Given the description of an element on the screen output the (x, y) to click on. 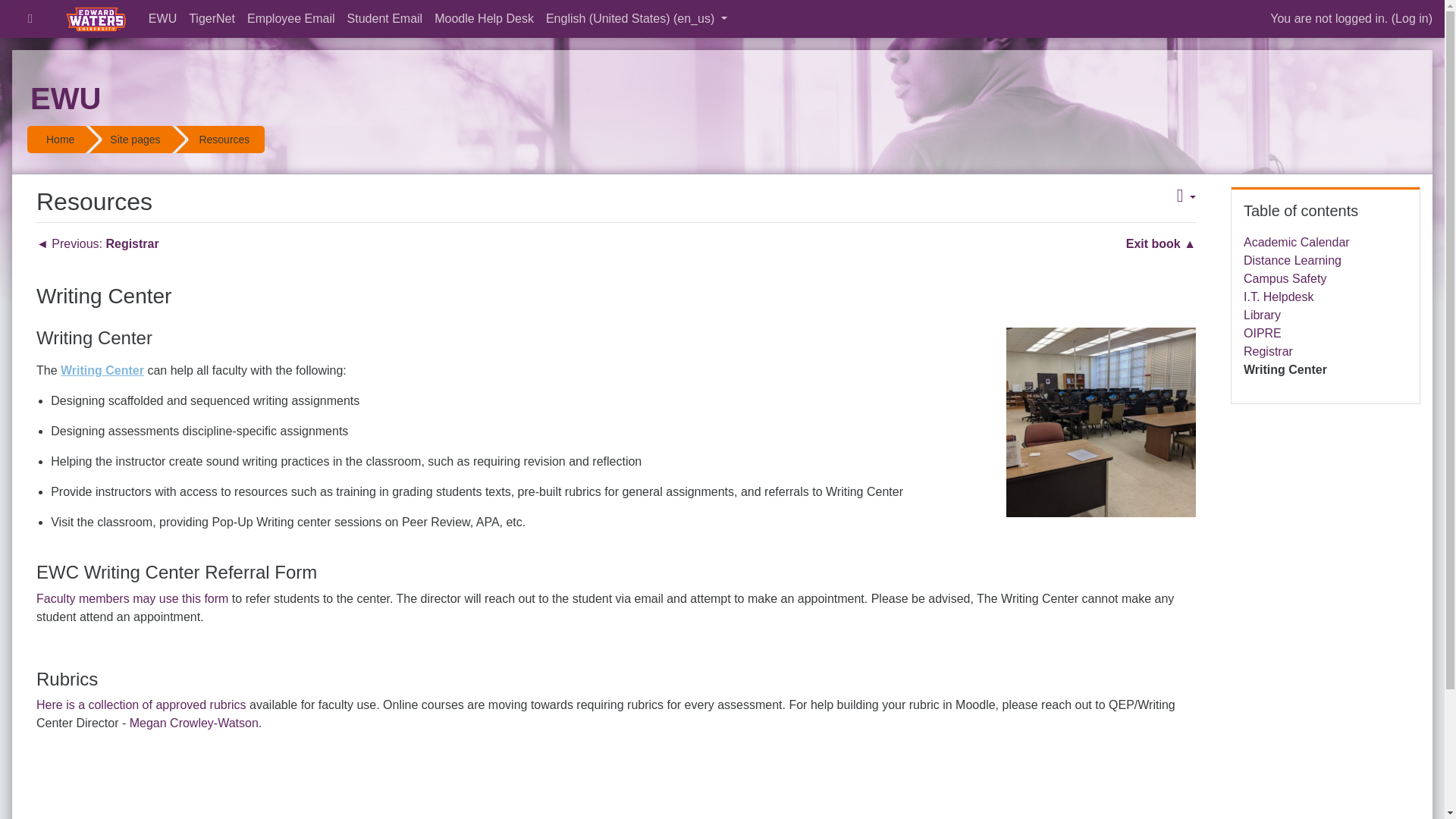
Side panel (29, 19)
Distance Learning (1291, 259)
Registrar (1267, 350)
Here is a collection of approved rubrics (141, 704)
EWU (65, 101)
Writing Center (102, 369)
Library (1262, 314)
Library (1262, 314)
Distance Learning (1291, 259)
Book (223, 139)
Home (60, 139)
OIPRE (1262, 332)
Academic Calendar (1296, 241)
Megan Crowley-Watson. (195, 722)
